Given the description of an element on the screen output the (x, y) to click on. 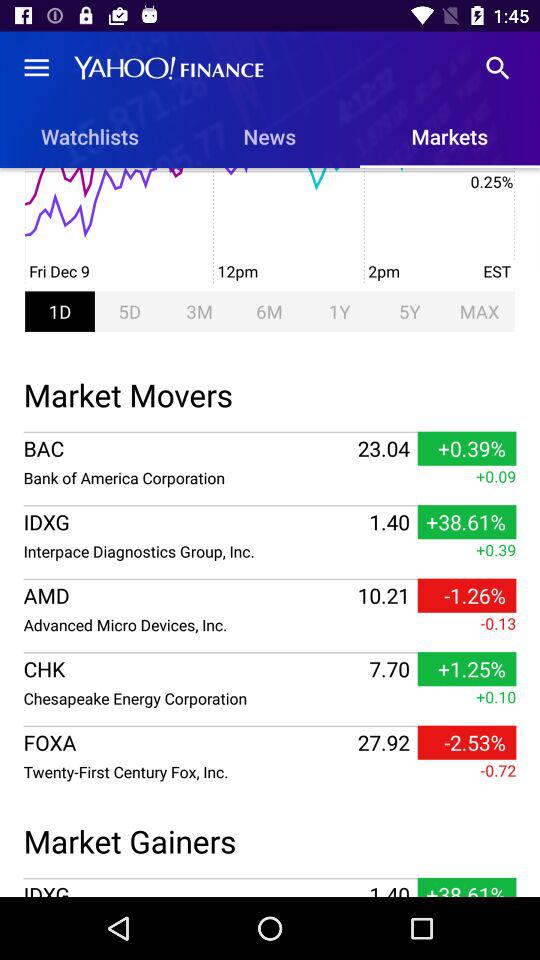
click item above the +0.09 (269, 432)
